Given the description of an element on the screen output the (x, y) to click on. 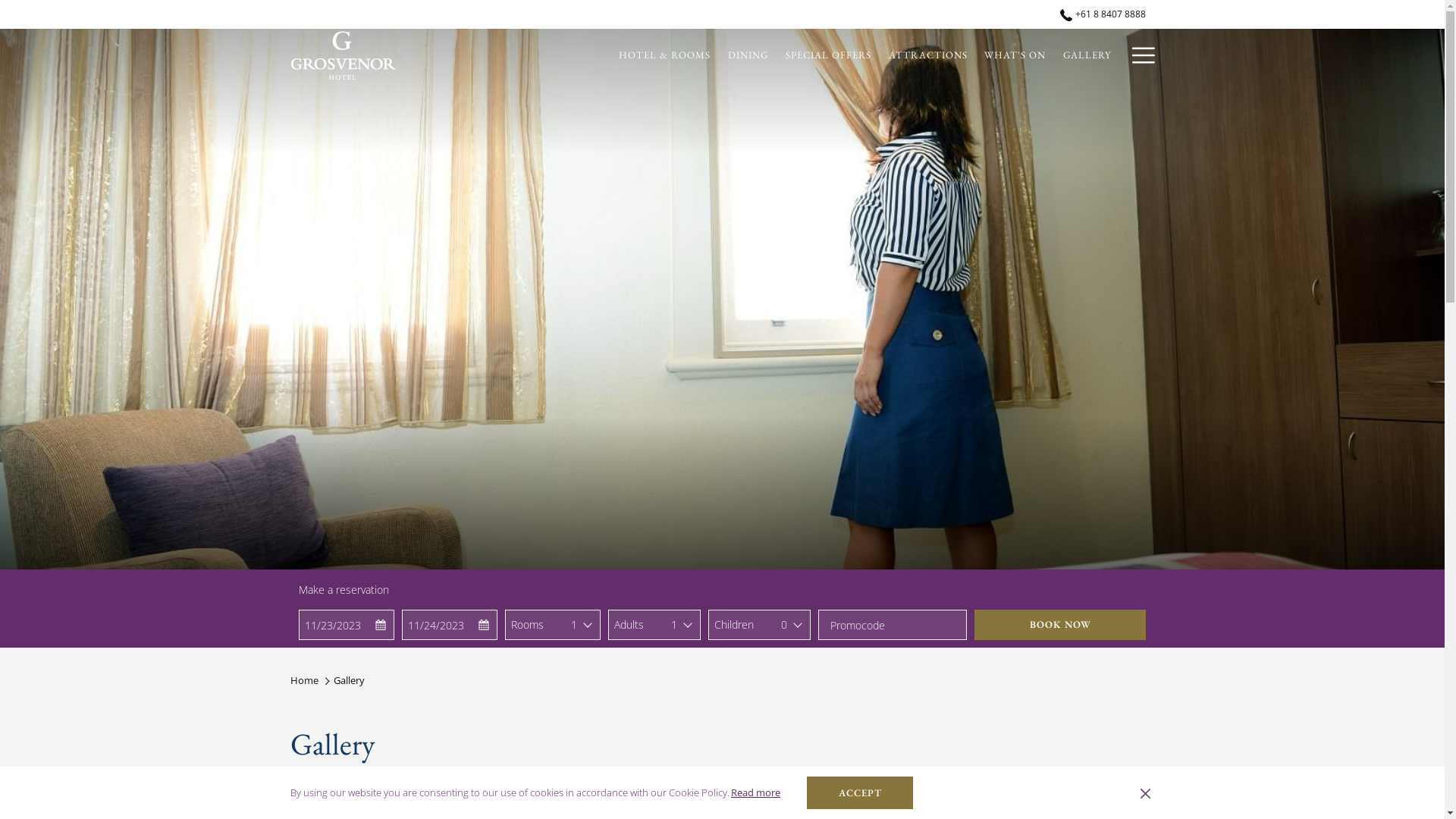
Home Element type: text (303, 680)
SPECIAL OFFERS Element type: text (827, 54)
HOTEL & ROOMS Element type: text (664, 54)
ATTRACTIONS Element type: text (927, 54)
More link
Menu Element type: text (1137, 54)
Gallery Element type: text (348, 680)
GALLERY Element type: text (1087, 54)
WHAT'S ON Element type: text (1014, 54)
Back to the homepage Element type: hover (342, 54)
BOOK NOW
OPENS IN A NEW TAB Element type: text (1059, 624)
+61 8 8407 8888 Element type: text (1098, 13)
Read more
(opens in a new tab) Element type: text (755, 792)
ACCEPT Element type: text (859, 792)
DINING Element type: text (748, 54)
